Given the description of an element on the screen output the (x, y) to click on. 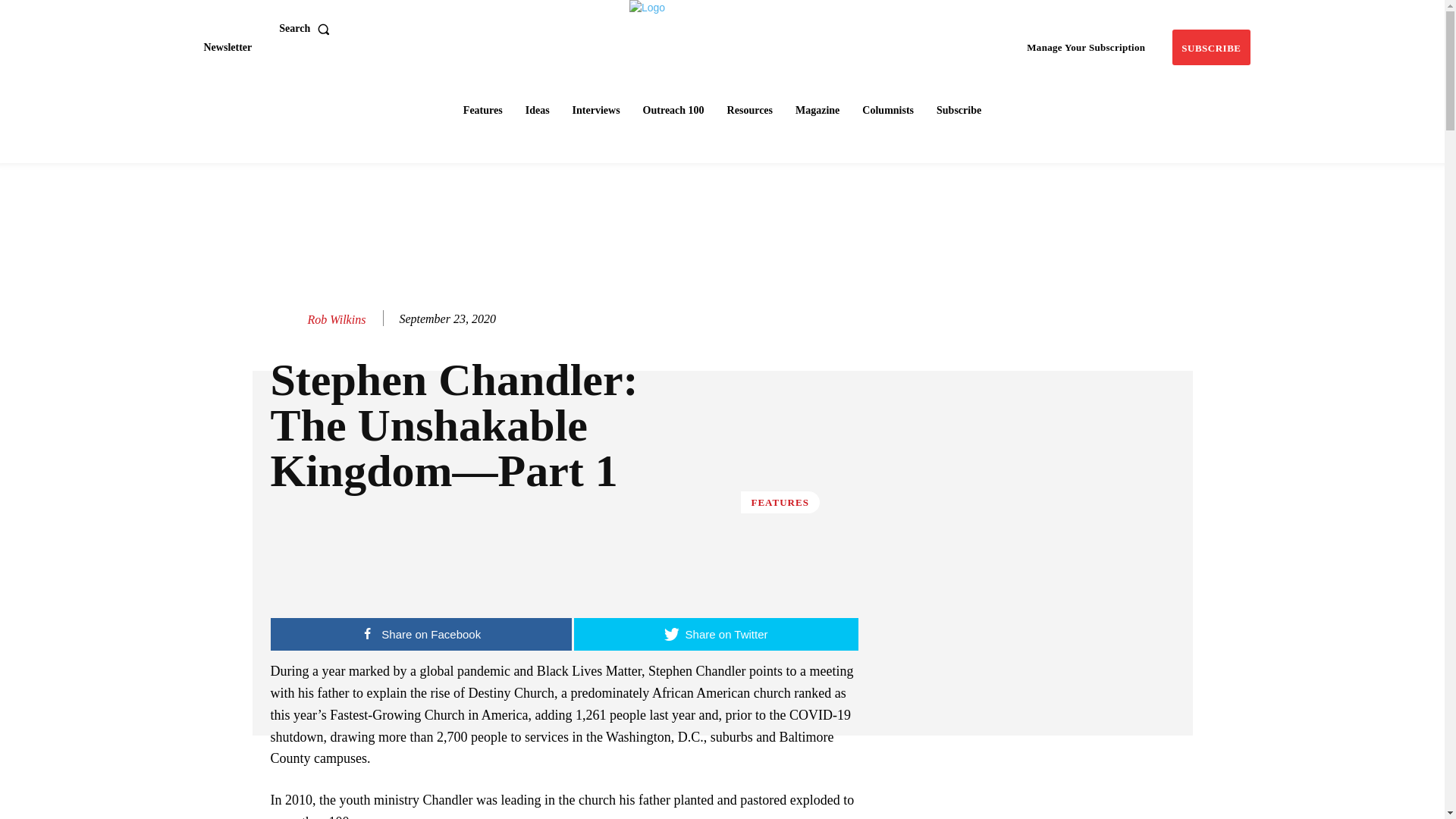
Manage Your Subscription (1085, 47)
Subscribe (1210, 47)
Newsletter (226, 47)
